Given the description of an element on the screen output the (x, y) to click on. 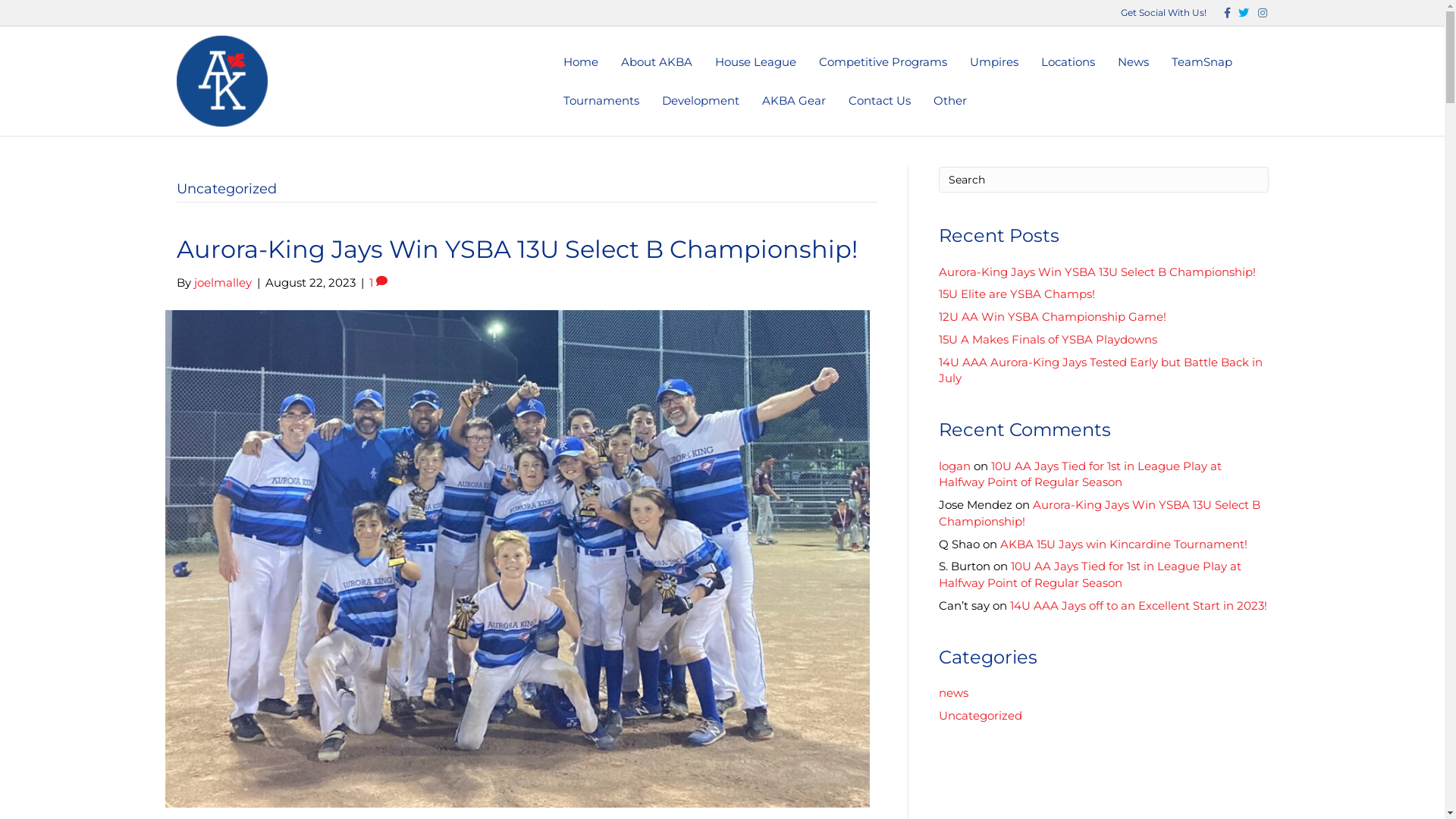
Facebook Element type: text (1220, 11)
House League Element type: text (755, 61)
About AKBA Element type: text (656, 61)
Contact Us Element type: text (879, 100)
Aurora-King Jays Win YSBA 13U Select B Championship! Element type: text (1099, 512)
15U Elite are YSBA Champs! Element type: text (1016, 293)
Uncategorized Element type: text (980, 715)
AKBA 15U Jays win Kincardine Tournament! Element type: text (1122, 543)
news Element type: text (953, 692)
Type and press Enter to search. Element type: hover (1103, 179)
12U AA Win YSBA Championship Game! Element type: text (1052, 316)
Tournaments Element type: text (601, 100)
Aurora-King Jays Win YSBA 13U Select B Championship! Element type: text (1096, 271)
joelmalley Element type: text (222, 282)
Umpires Element type: text (993, 61)
Twitter Element type: text (1239, 11)
News Element type: text (1132, 61)
Home Element type: text (580, 61)
15U A Makes Finals of YSBA Playdowns Element type: text (1047, 339)
TeamSnap Element type: text (1201, 61)
Development Element type: text (700, 100)
Locations Element type: text (1067, 61)
14U AAA Jays off to an Excellent Start in 2023! Element type: text (1138, 605)
AKBA Gear Element type: text (793, 100)
Aurora-King Jays Win YSBA 13U Select B Championship! Element type: text (515, 248)
Instagram Element type: text (1257, 11)
Other Element type: text (950, 100)
logan Element type: text (954, 465)
1 Element type: text (377, 282)
Competitive Programs Element type: text (881, 61)
Aurora-King Jays Win YSBA 13U Select B Championship! Element type: hover (517, 557)
